Given the description of an element on the screen output the (x, y) to click on. 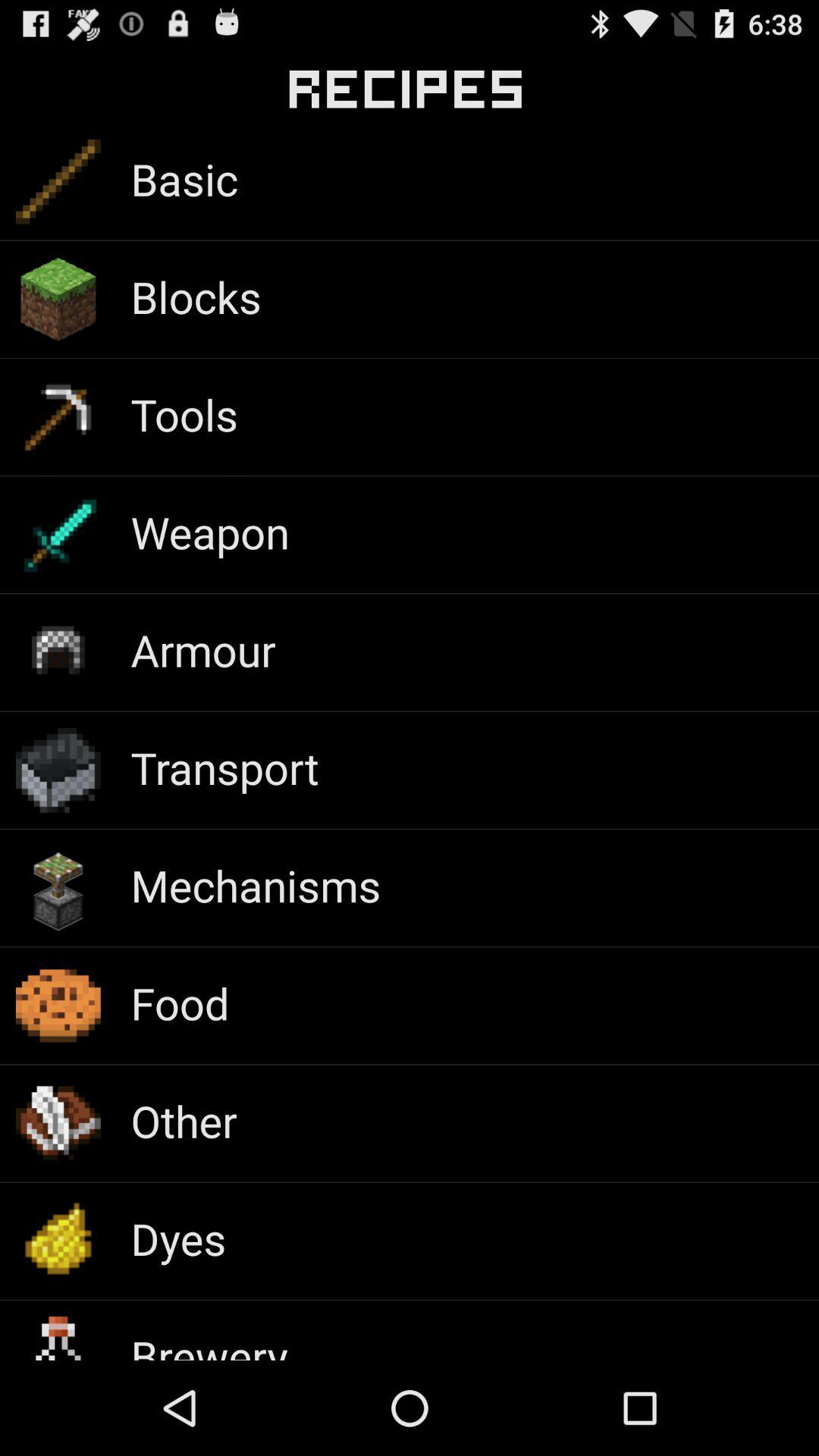
turn on app below the armour item (224, 767)
